Given the description of an element on the screen output the (x, y) to click on. 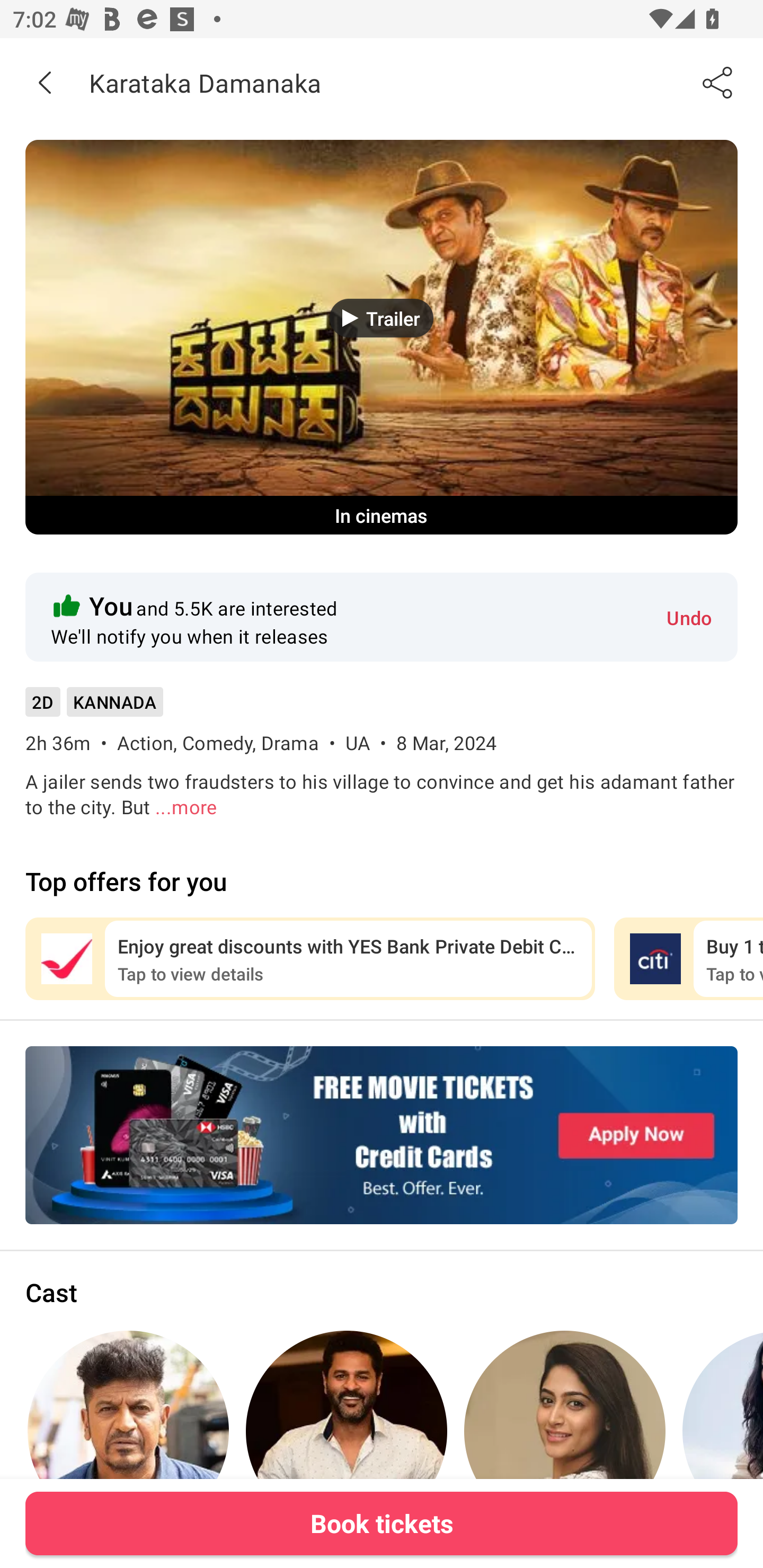
Back (44, 82)
Share (718, 82)
Movie Banner Trailer In cinemas (381, 336)
Trailer (381, 318)
Undo (688, 616)
2D KANNADA (94, 707)
Book tickets (381, 1523)
